Given the description of an element on the screen output the (x, y) to click on. 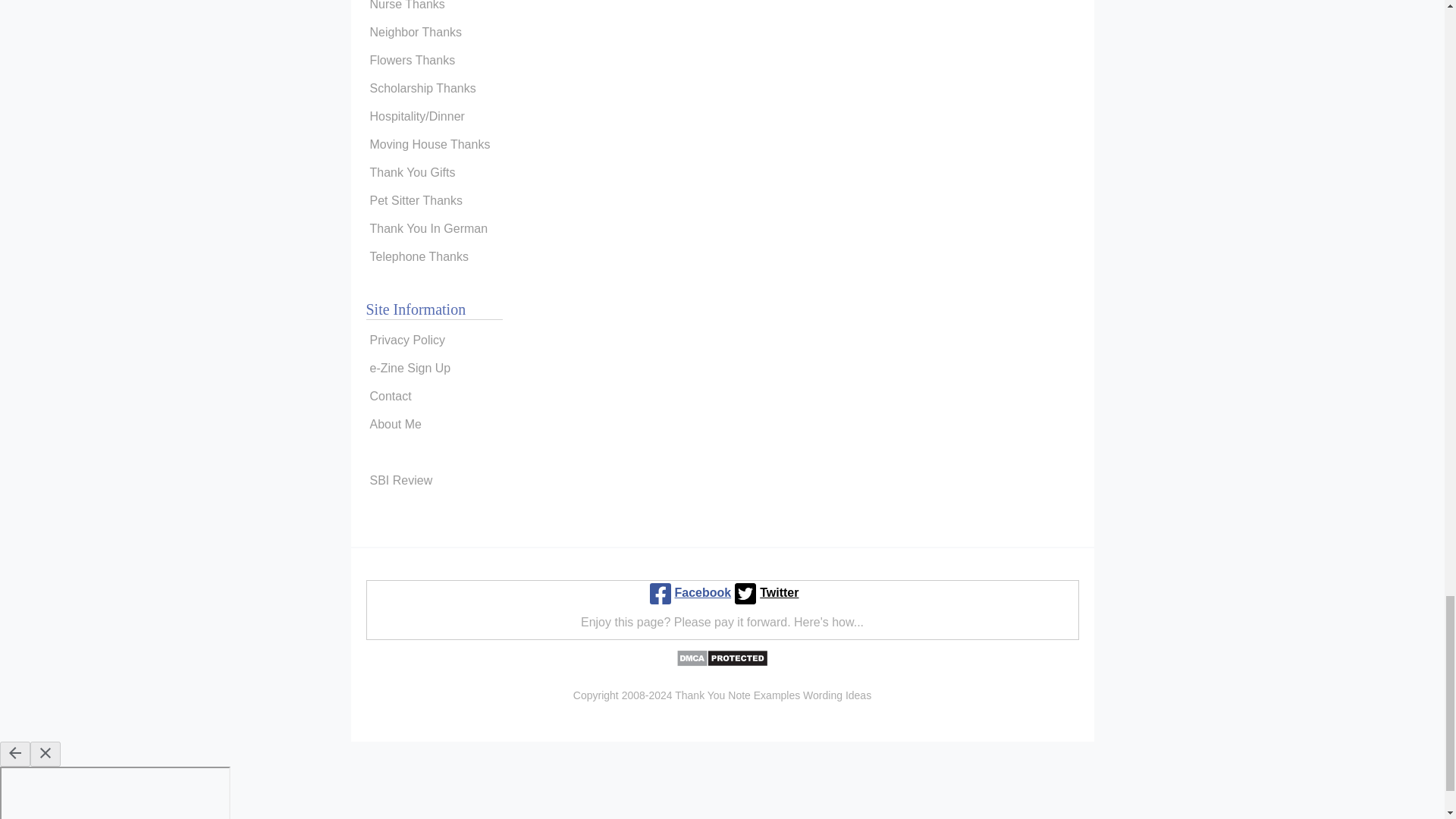
DMCA.com Protection Status (722, 662)
